Given the description of an element on the screen output the (x, y) to click on. 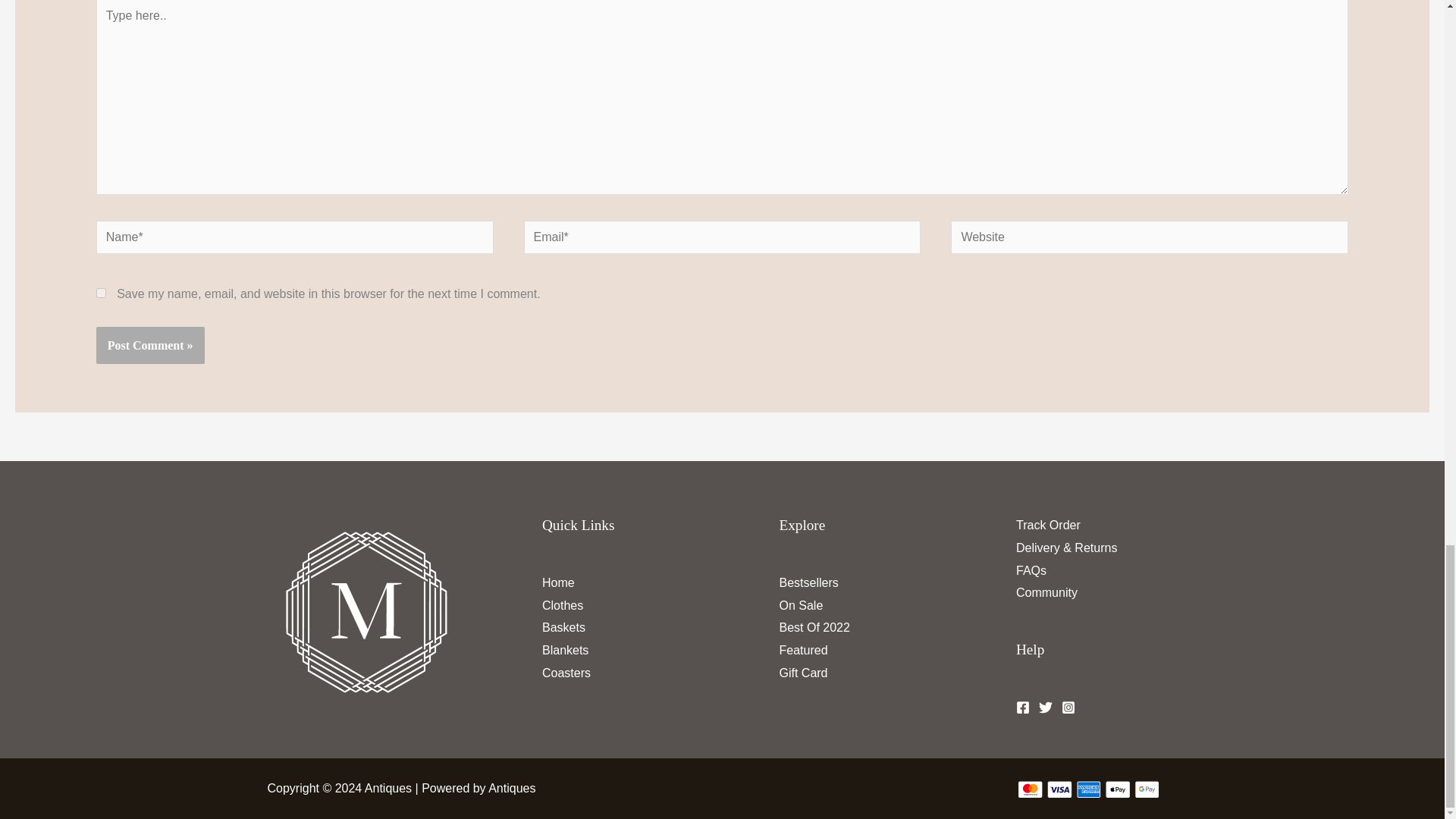
yes (101, 293)
